Given the description of an element on the screen output the (x, y) to click on. 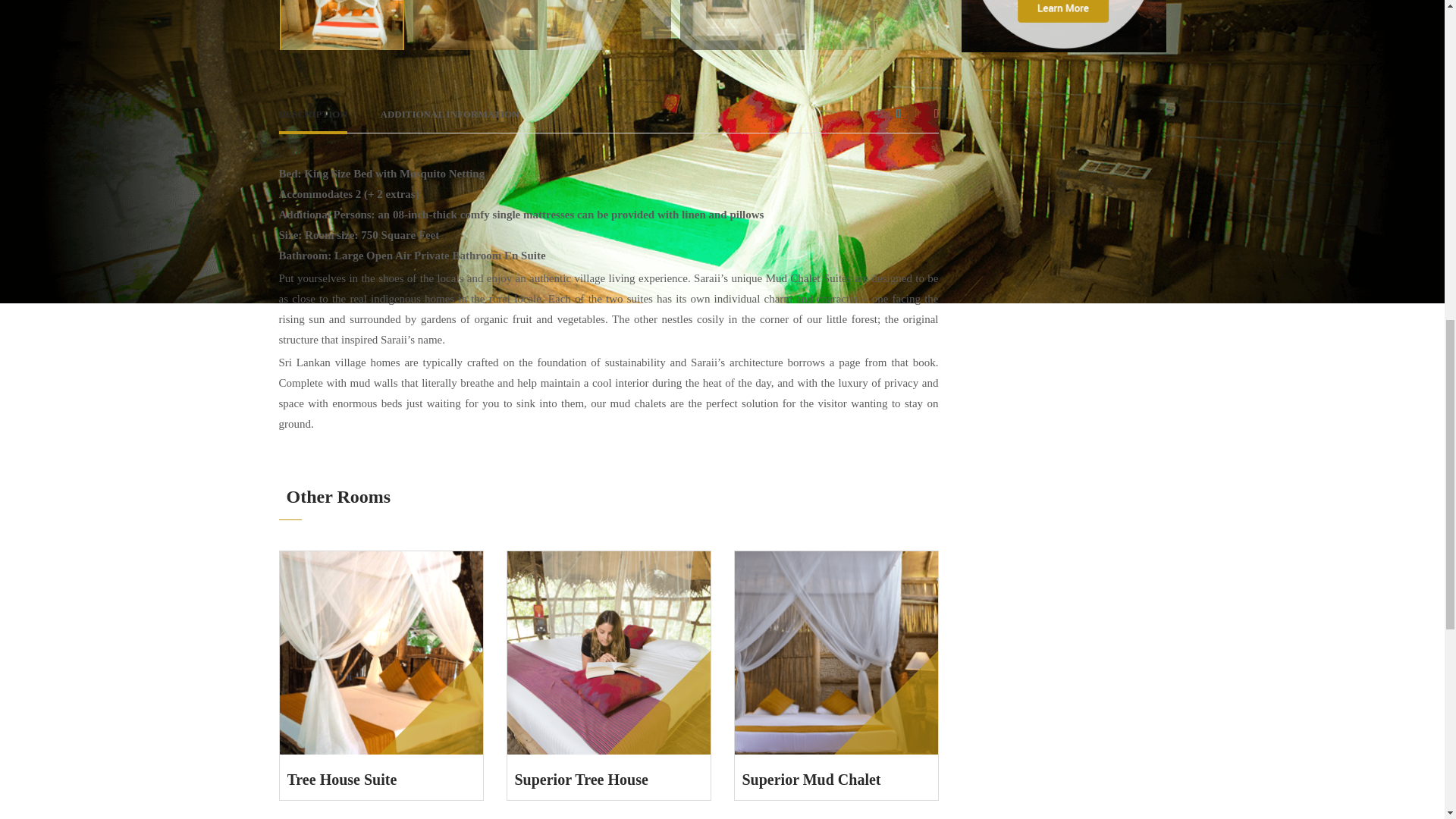
ADDITIONAL INFORMATION (449, 117)
DESCRIPTION (313, 117)
